Given the description of an element on the screen output the (x, y) to click on. 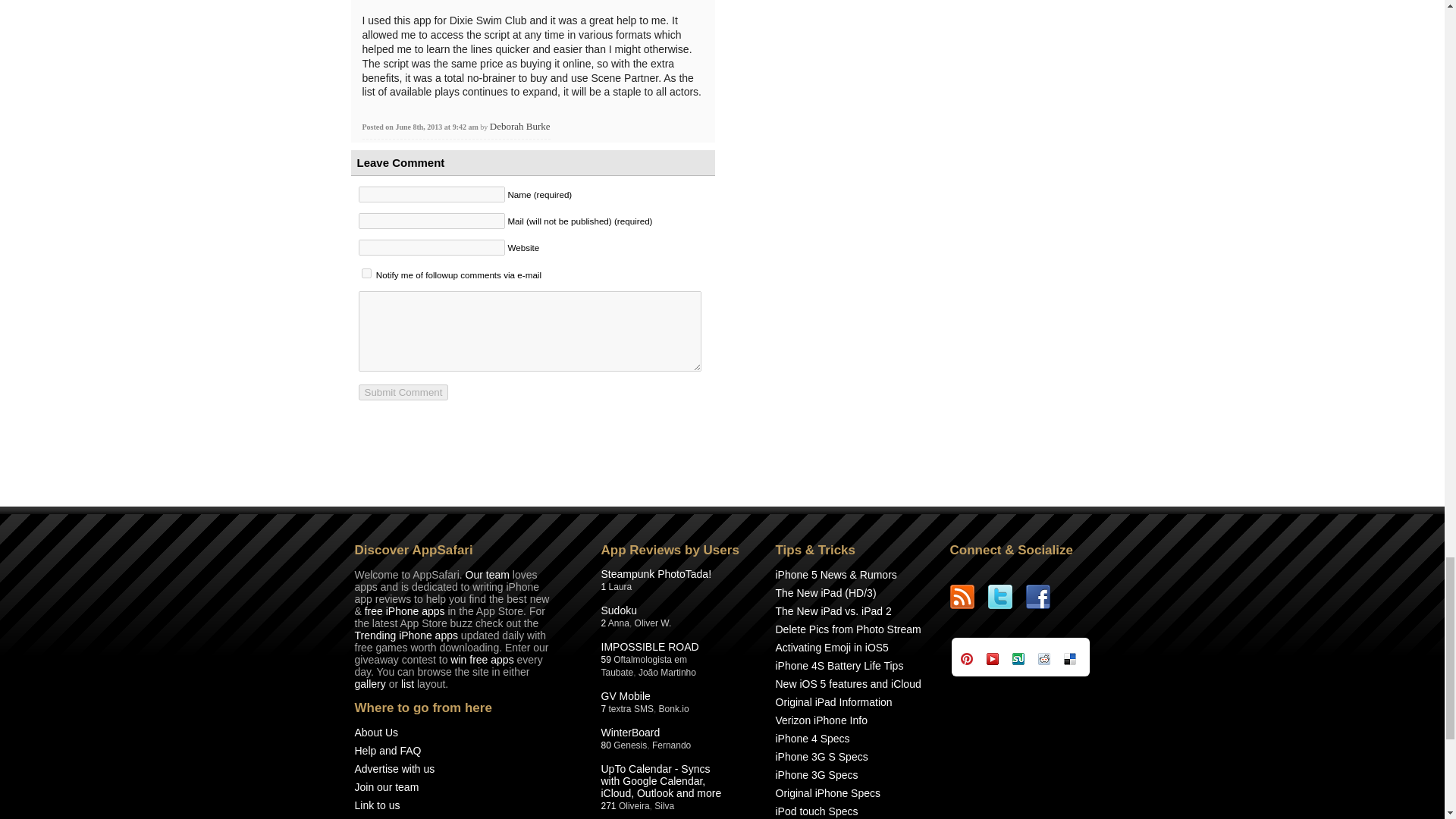
Submit Comment (403, 392)
subscribe (366, 273)
Posted on June 8th, 2013 at 9:42 am (421, 126)
Submit Comment (403, 392)
